Given the description of an element on the screen output the (x, y) to click on. 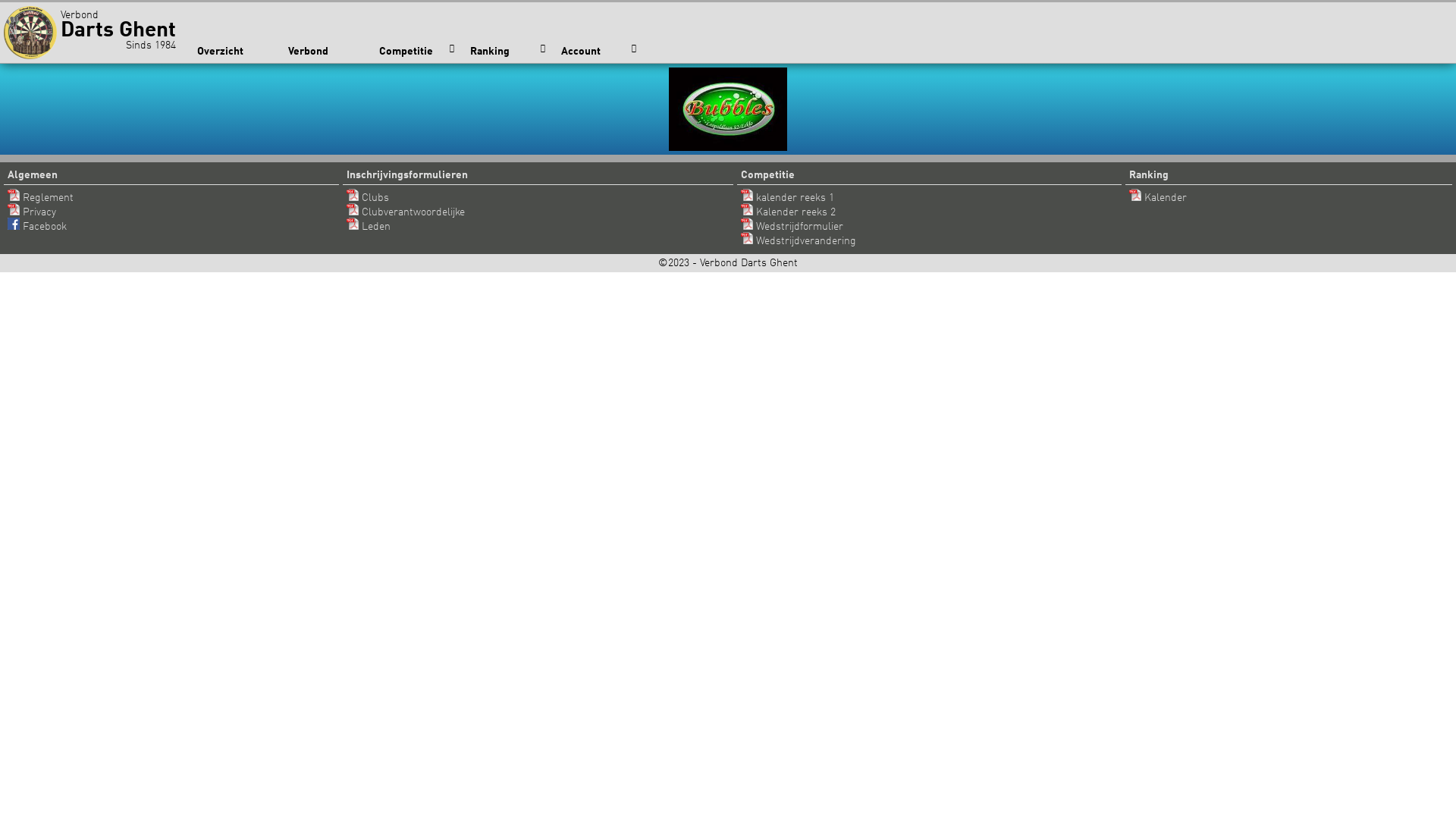
Competitie Element type: text (416, 51)
kalender reeks 1 Element type: text (787, 197)
Clubs Element type: text (367, 197)
Overzicht Element type: text (234, 51)
Facebook Element type: text (36, 226)
Account Element type: text (598, 51)
Wedstrijdverandering Element type: text (798, 240)
Kalender reeks 2 Element type: text (787, 212)
Privacy Element type: text (31, 212)
Leden Element type: text (368, 226)
Reglement Element type: text (40, 197)
Clubverantwoordelijke Element type: text (405, 212)
Verbond
Darts Ghent
Sinds 1984 Element type: text (94, 32)
Ranking Element type: text (507, 51)
Wedstrijdformulier Element type: text (791, 226)
Verbond Element type: text (325, 51)
Kalender Element type: text (1157, 197)
